Given the description of an element on the screen output the (x, y) to click on. 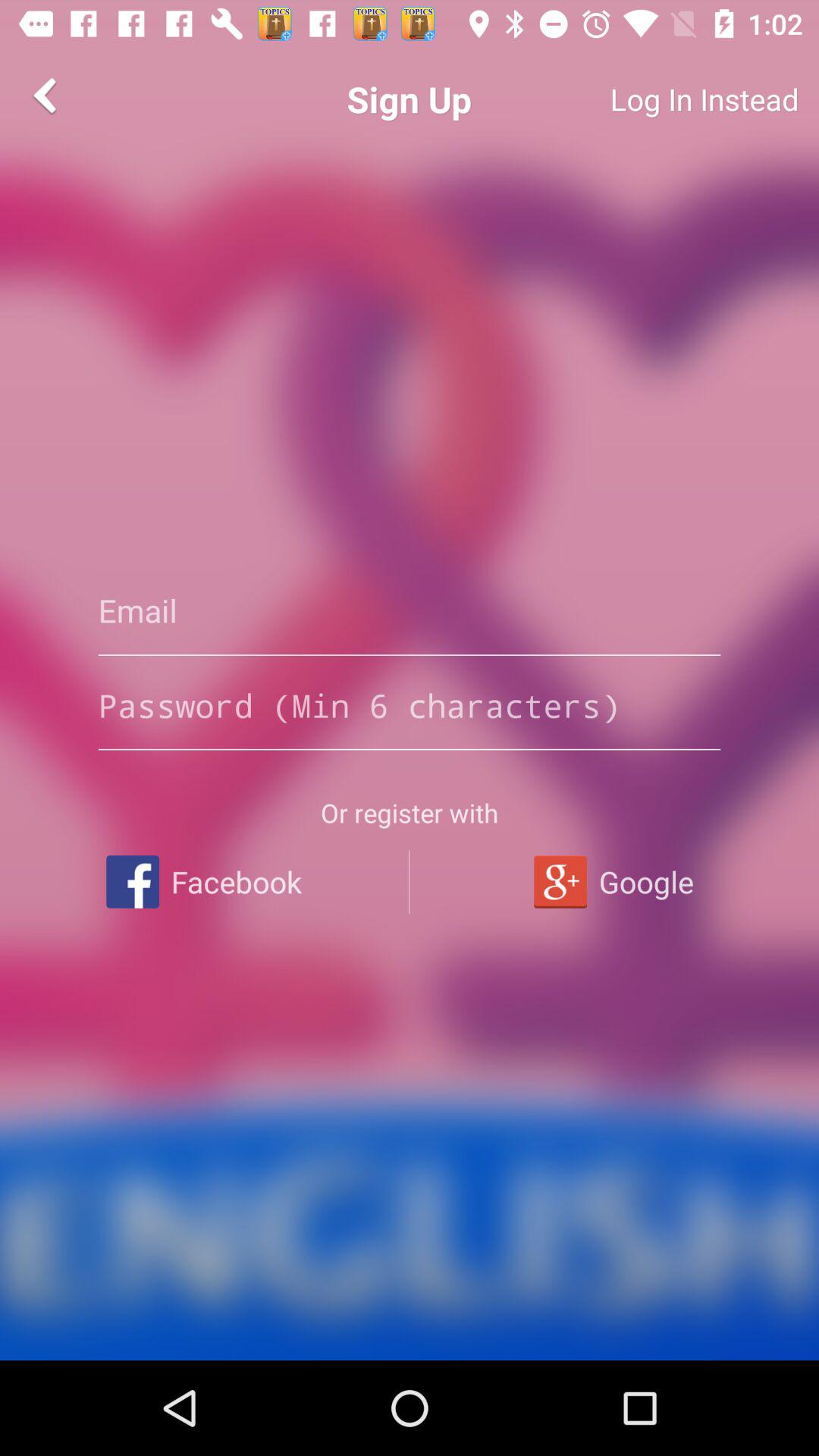
turn off the item to the right of sign up icon (649, 99)
